Given the description of an element on the screen output the (x, y) to click on. 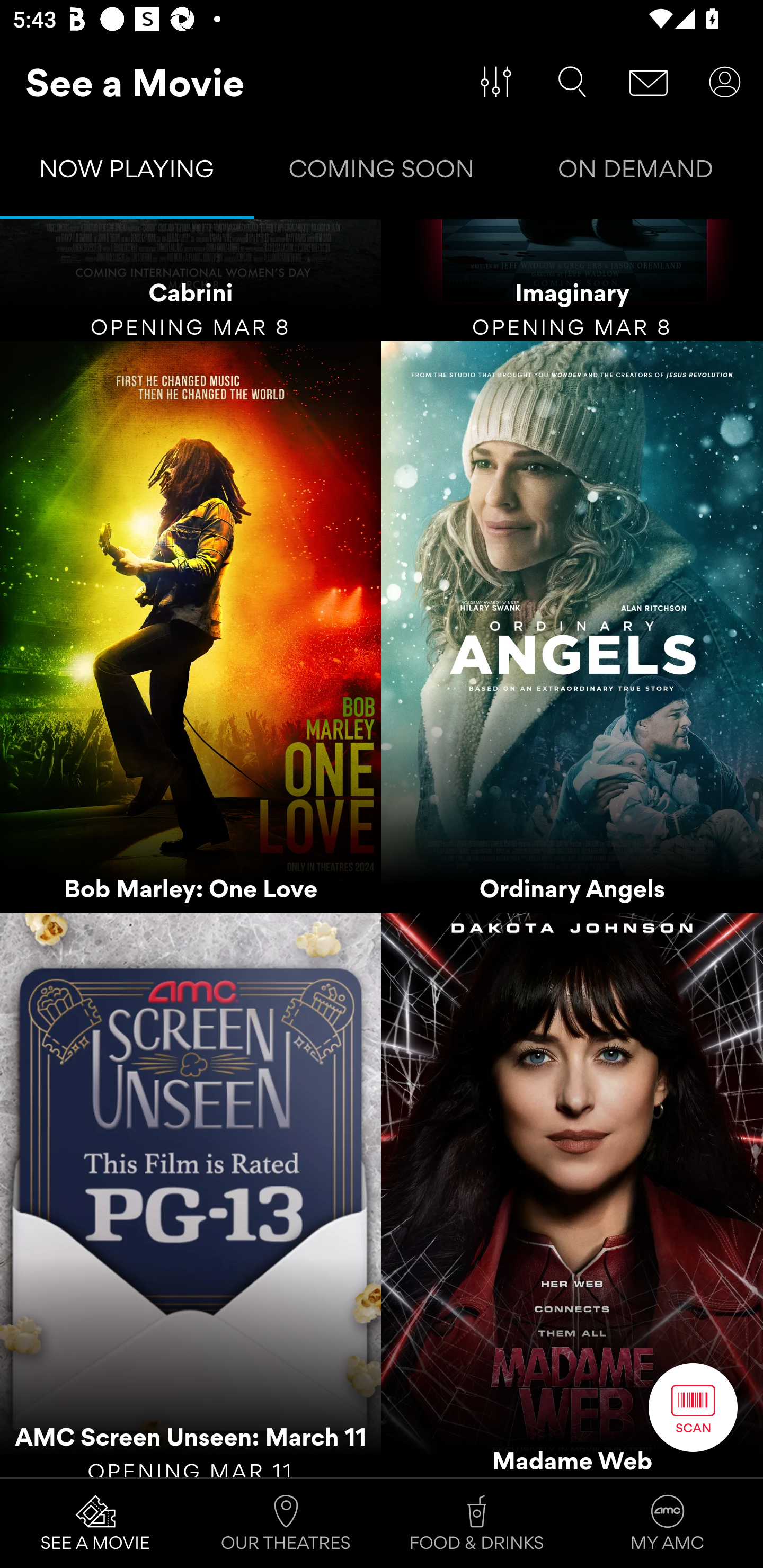
Filter Movies (495, 82)
Search (572, 82)
Message Center (648, 82)
User Account (724, 82)
NOW PLAYING
Tab 1 of 3 (127, 173)
COMING SOON
Tab 2 of 3 (381, 173)
ON DEMAND
Tab 3 of 3 (635, 173)
Cabrini
OPENING MAR 8 (190, 280)
Imaginary
OPENING MAR 8 (572, 280)
Bob Marley: One Love (190, 626)
Ordinary Angels (572, 626)
AMC Screen Unseen: March 11
OPENING MAR 11 (190, 1194)
Madame Web (572, 1194)
Scan Button (692, 1406)
SEE A MOVIE
Tab 1 of 4 (95, 1523)
OUR THEATRES
Tab 2 of 4 (285, 1523)
FOOD & DRINKS
Tab 3 of 4 (476, 1523)
MY AMC
Tab 4 of 4 (667, 1523)
